Given the description of an element on the screen output the (x, y) to click on. 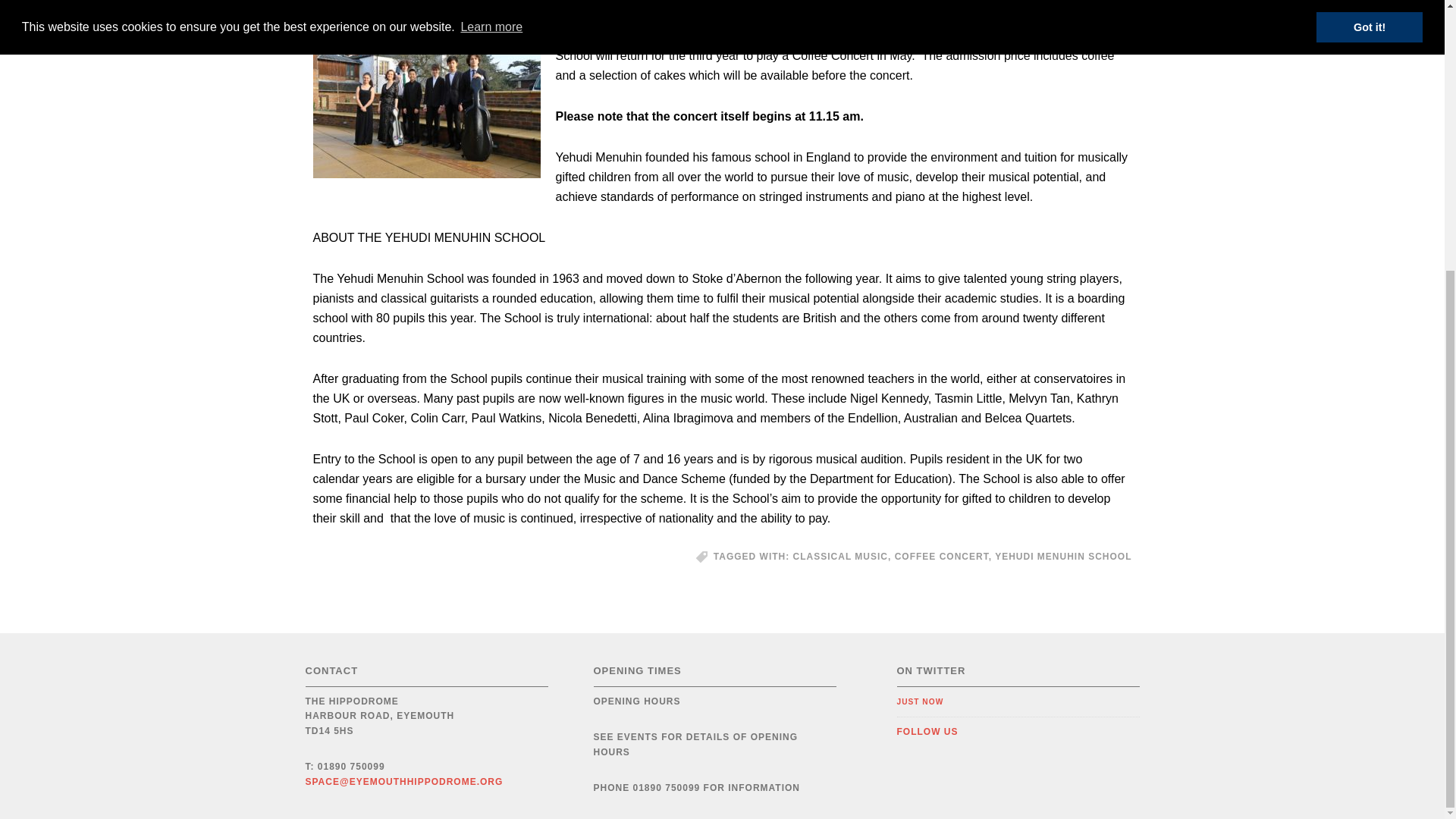
CLASSICAL MUSIC (840, 556)
YEHUDI MENUHIN SCHOOL (1062, 556)
COFFEE CONCERT (941, 556)
JUST NOW (919, 701)
FOLLOW US (927, 731)
